Given the description of an element on the screen output the (x, y) to click on. 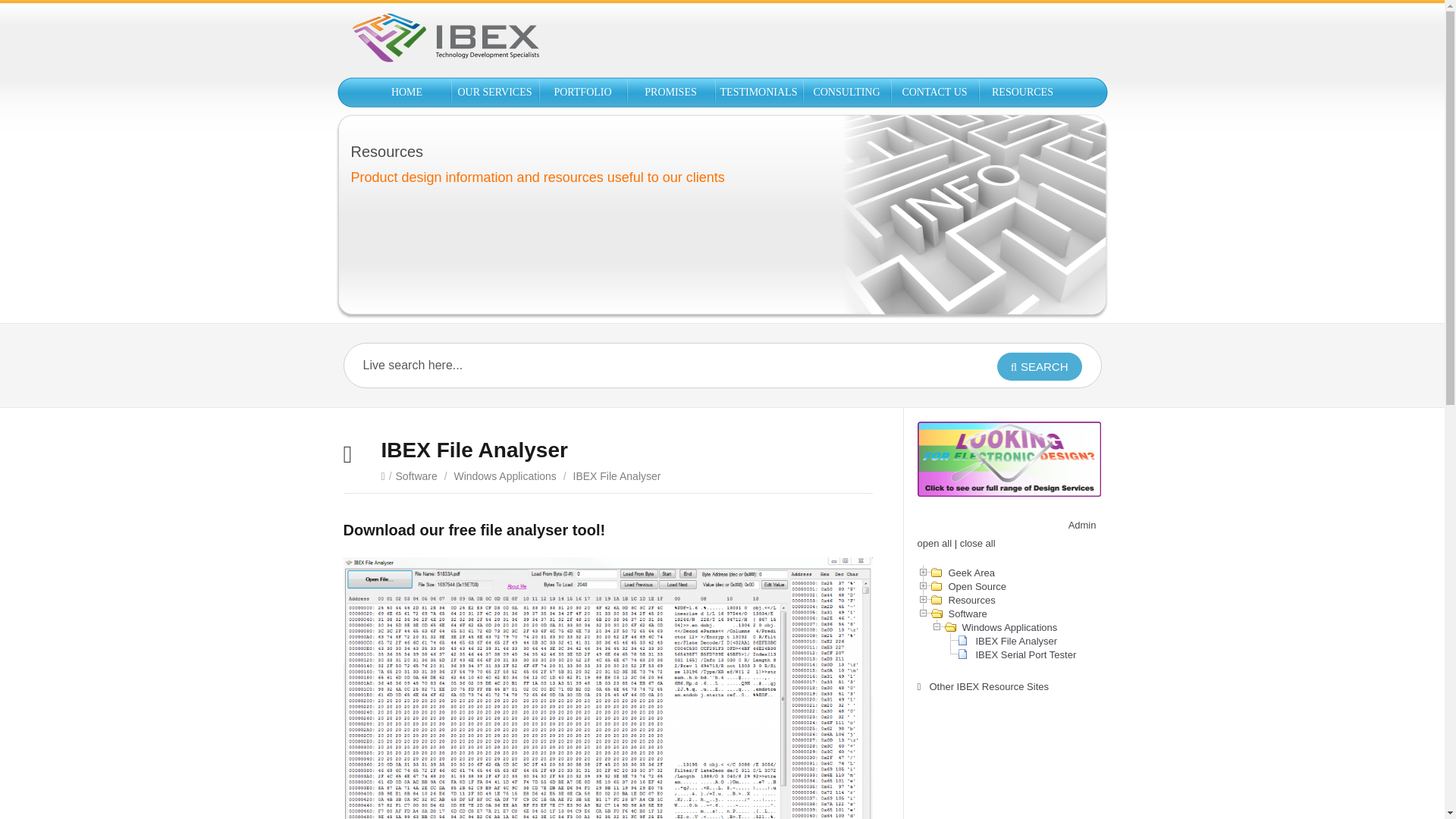
CONSULTING (845, 91)
Geek Area (970, 572)
close all (977, 542)
Live search here... (646, 365)
Geek Area (970, 572)
RESOURCES (1021, 91)
close all (977, 542)
CONTACT US (933, 91)
PORTFOLIO (582, 91)
Admin (1082, 524)
open all (934, 542)
open all (934, 542)
Software (417, 476)
HOME (406, 91)
SEARCH (1039, 366)
